Given the description of an element on the screen output the (x, y) to click on. 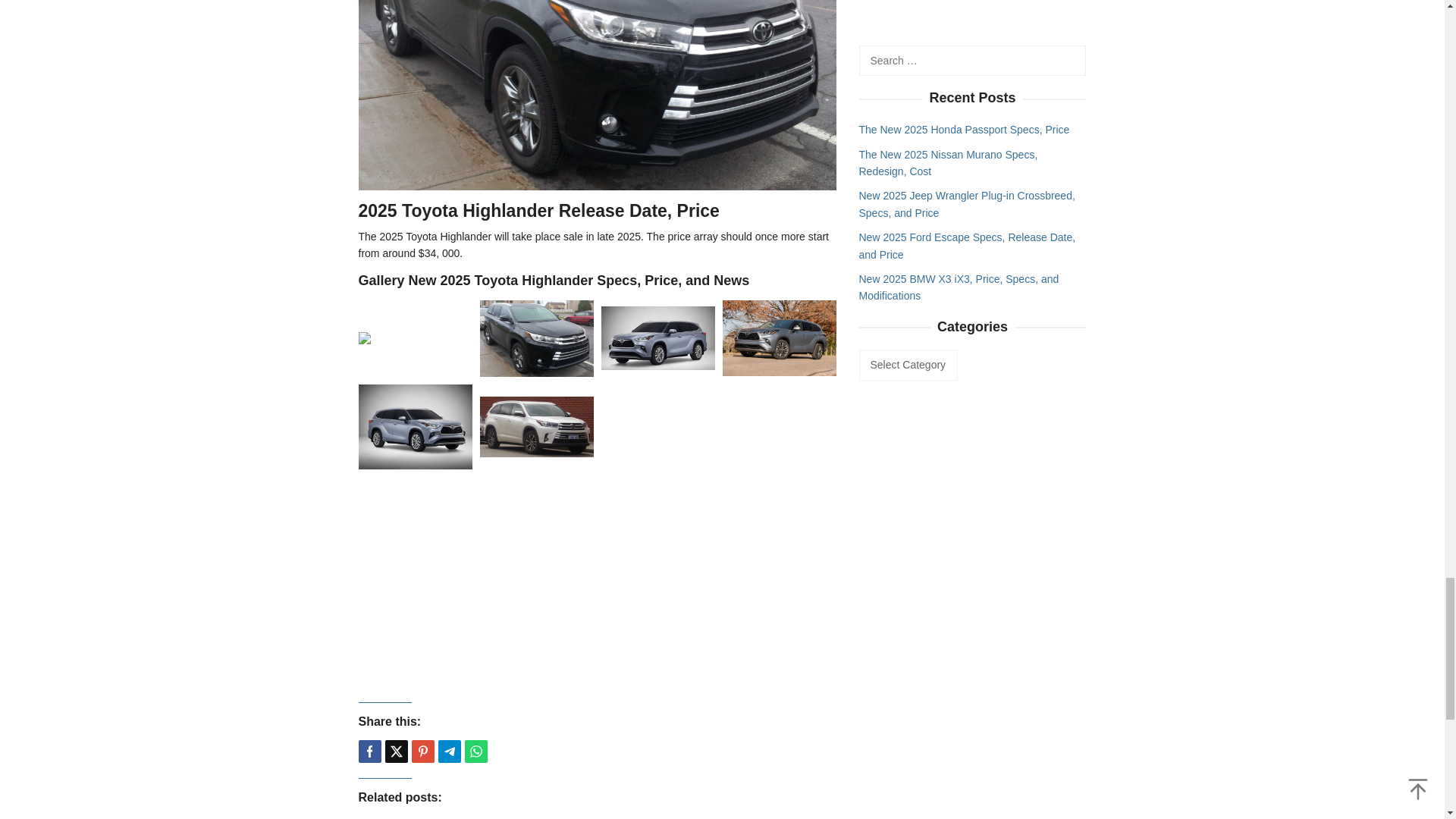
Image for  Toyota Highlander Release date (414, 337)
Toyota Highlander Redesign (596, 95)
Toyota Highlander Redesign (596, 28)
